Given the description of an element on the screen output the (x, y) to click on. 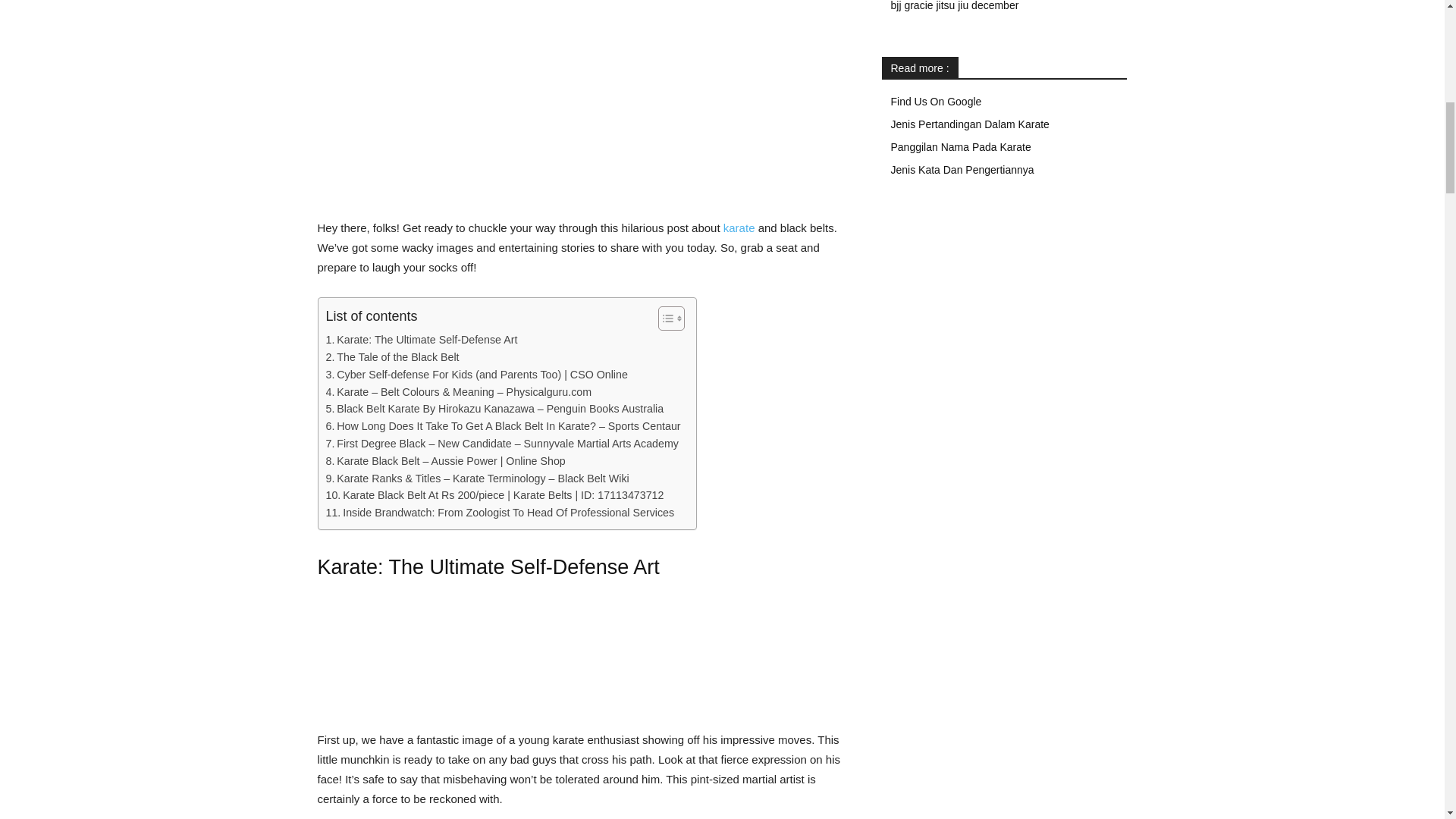
Karate: The Ultimate Self-Defense Art (422, 339)
